Given the description of an element on the screen output the (x, y) to click on. 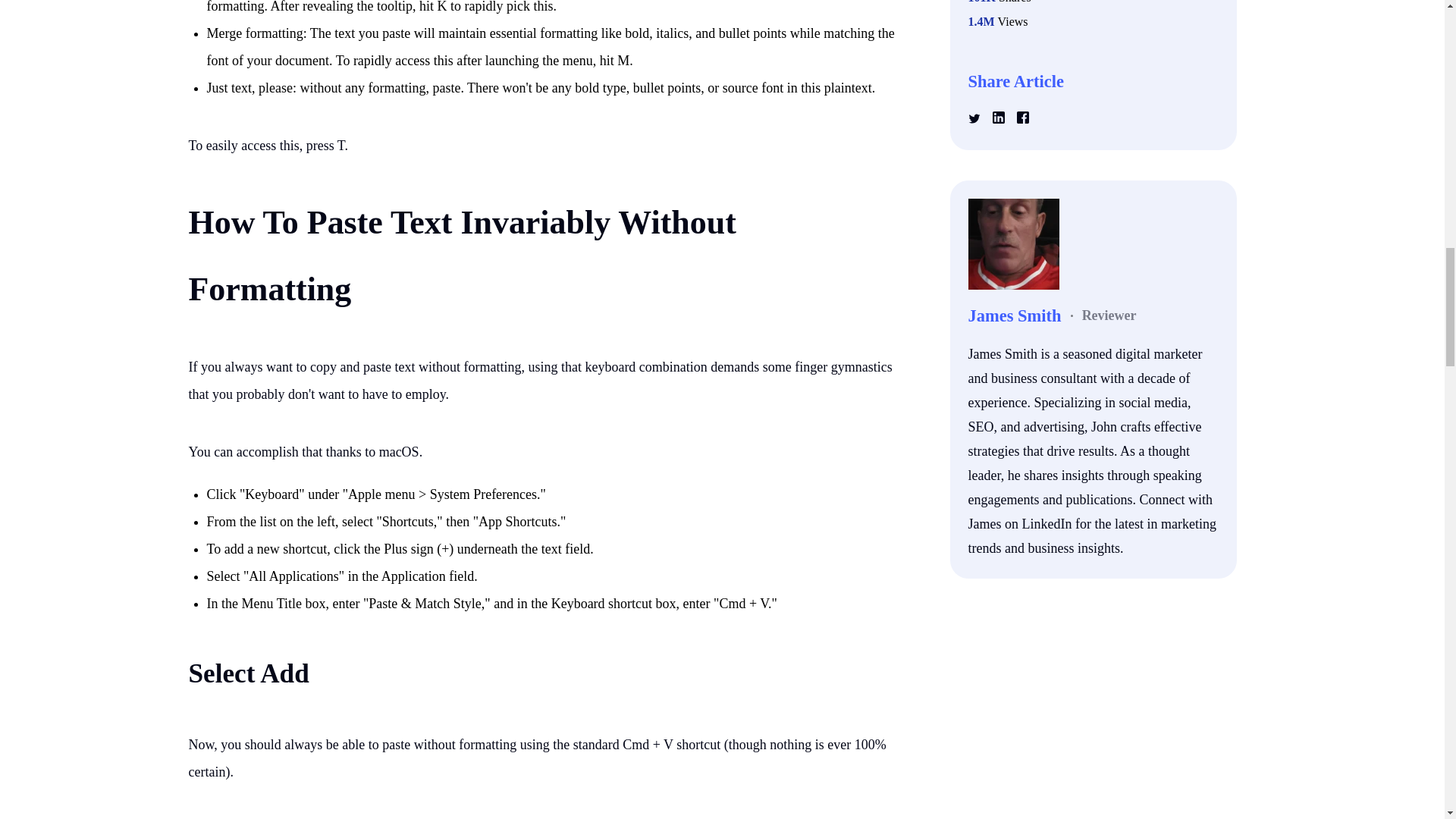
Select Add (247, 673)
How To Paste Text Invariably Without Formatting (461, 255)
